Given the description of an element on the screen output the (x, y) to click on. 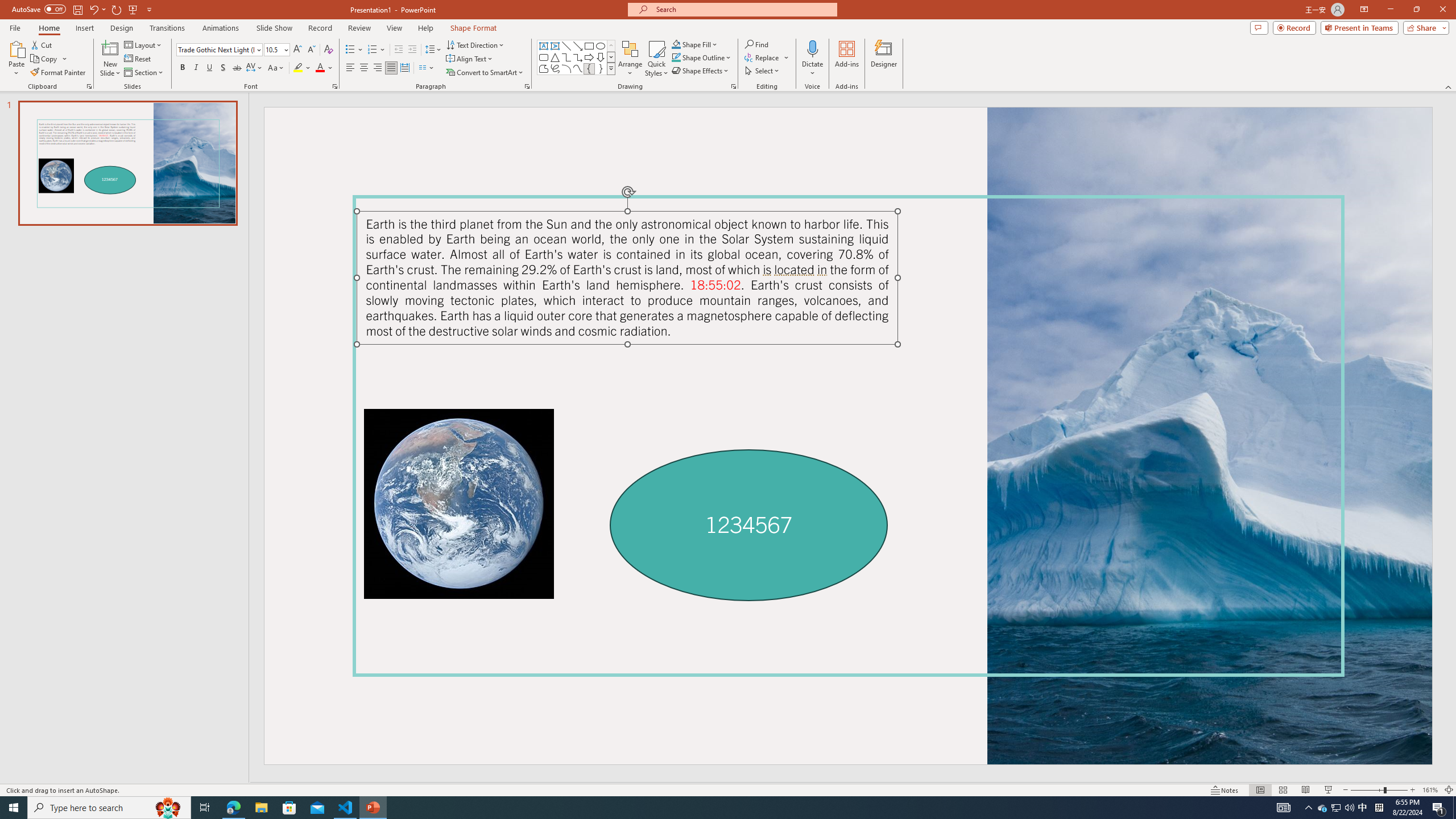
Oval (600, 45)
Row Down (611, 56)
Shape Format (473, 28)
Font Color Red (320, 67)
Reset (138, 58)
Rectangle: Rounded Corners (543, 57)
Section (144, 72)
Shape Fill (694, 44)
Find... (756, 44)
Convert to SmartArt (485, 72)
Numbering (376, 49)
Font Size (273, 49)
